Given the description of an element on the screen output the (x, y) to click on. 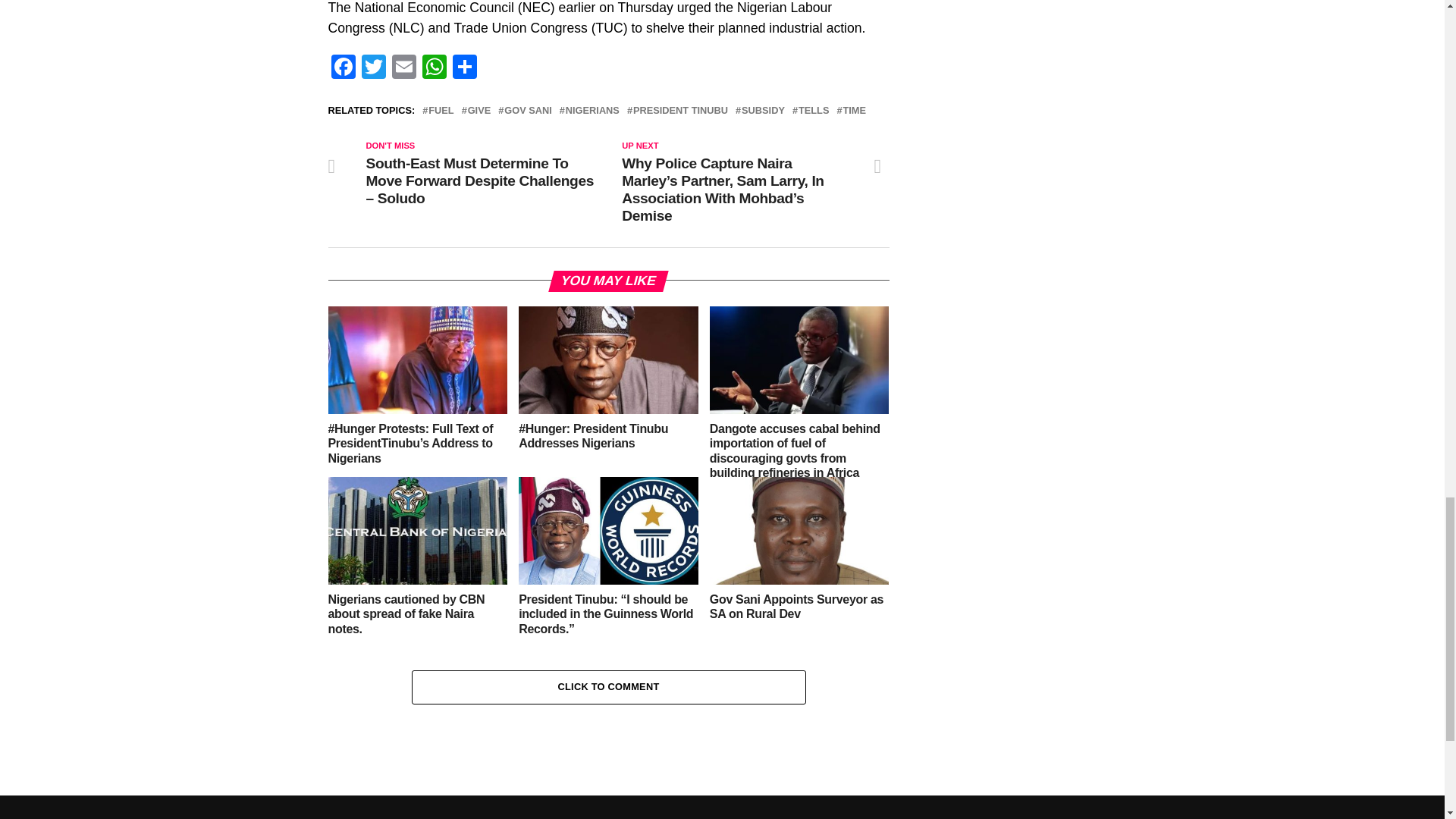
Email (403, 68)
Facebook (342, 68)
WhatsApp (433, 68)
Twitter (373, 68)
